Given the description of an element on the screen output the (x, y) to click on. 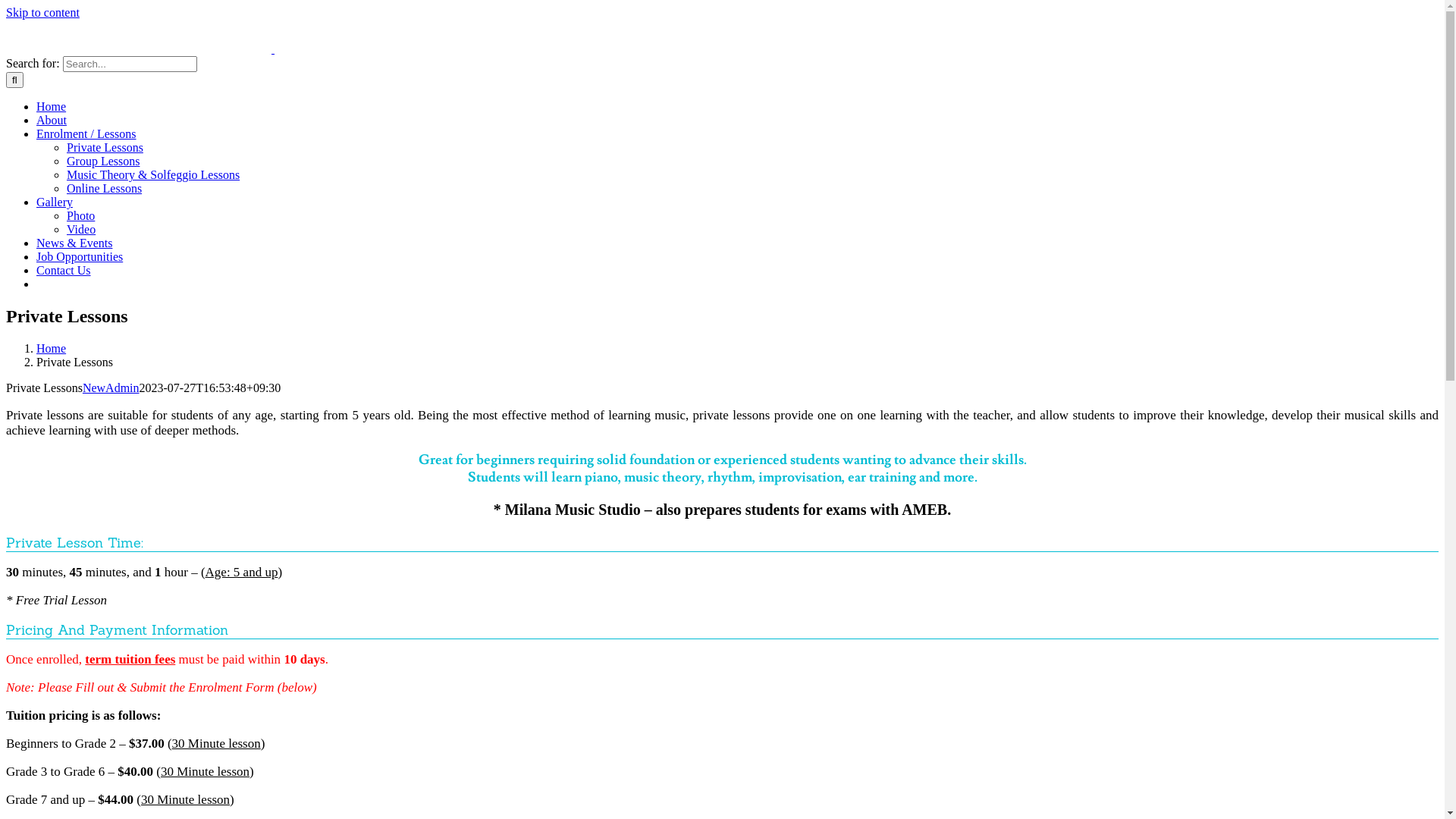
Skip to content Element type: text (42, 12)
Gallery Element type: text (54, 201)
Online Lessons Element type: text (103, 188)
Home Element type: text (50, 348)
Music Theory & Solfeggio Lessons Element type: text (152, 174)
Enrolment / Lessons Element type: text (86, 133)
NewAdmin Element type: text (110, 387)
Private Lessons Element type: text (104, 147)
Home Element type: text (50, 106)
Group Lessons Element type: text (102, 160)
Video Element type: text (80, 228)
Photo Element type: text (80, 215)
News & Events Element type: text (74, 242)
Contact Us Element type: text (63, 269)
Job Opportunities Element type: text (79, 256)
About Element type: text (51, 119)
